Given the description of an element on the screen output the (x, y) to click on. 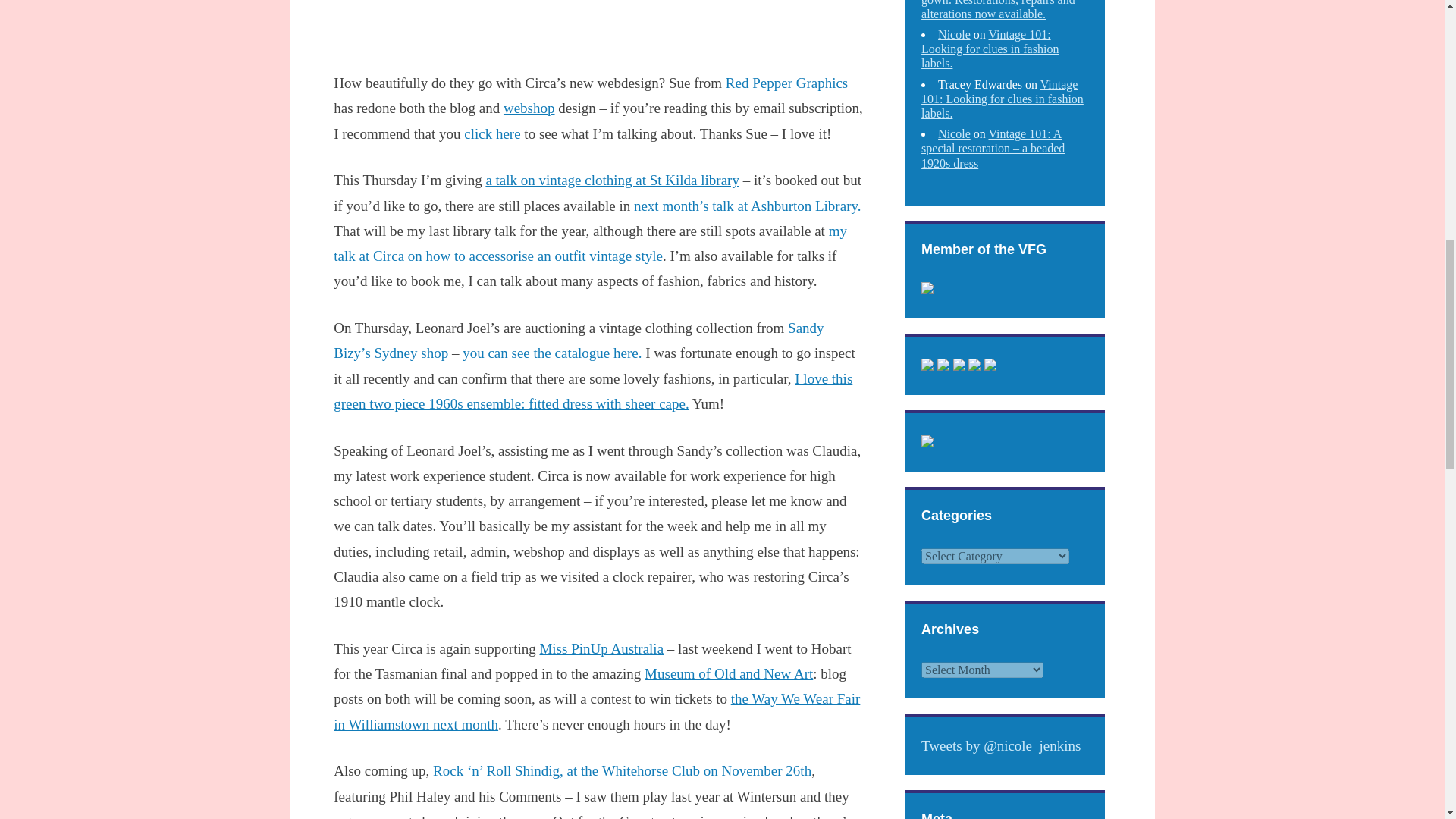
the Way We Wear Fair in Williamstown next month (596, 711)
a talk on vintage clothing at St Kilda library (611, 179)
click here (491, 133)
Museum of Old and New Art (728, 673)
you can see the catalogue here. (552, 352)
Red Pepper Graphics (786, 82)
webshop (528, 107)
Miss PinUp Australia (600, 648)
